Given the description of an element on the screen output the (x, y) to click on. 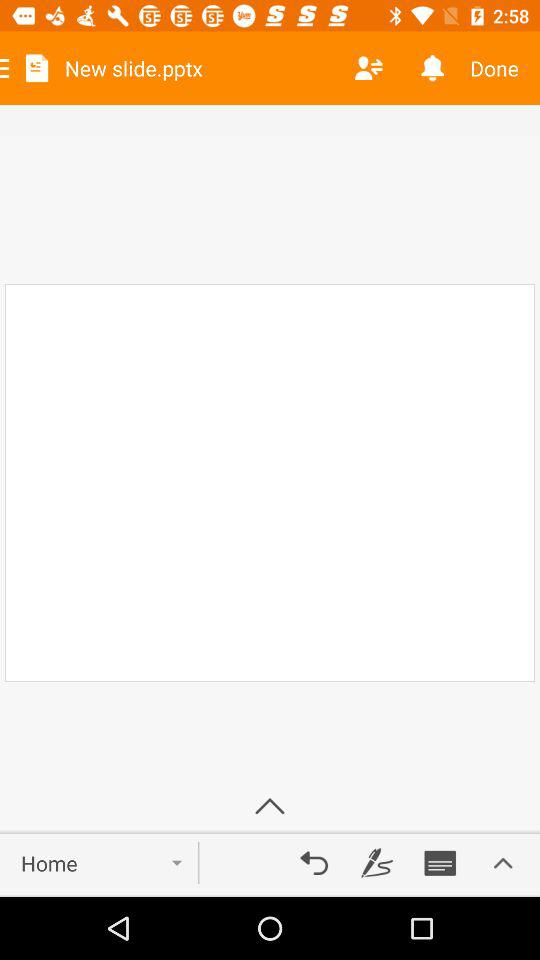
flip to the done icon (501, 68)
